Given the description of an element on the screen output the (x, y) to click on. 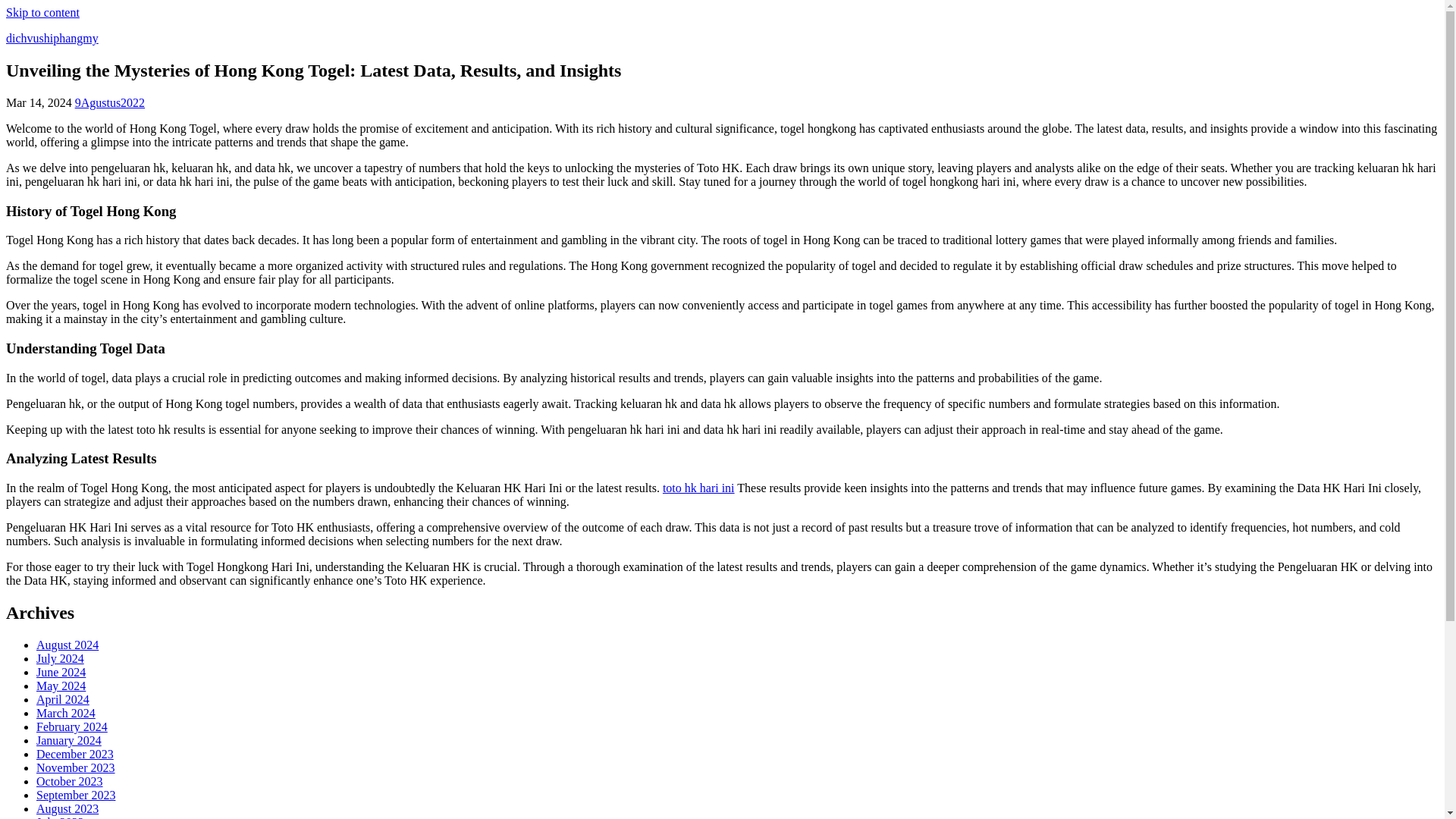
toto hk hari ini (698, 487)
dichvushiphangmy (52, 38)
April 2024 (62, 698)
December 2023 (74, 753)
June 2024 (60, 671)
January 2024 (68, 739)
September 2023 (75, 794)
October 2023 (69, 780)
February 2024 (71, 726)
July 2023 (60, 817)
